Given the description of an element on the screen output the (x, y) to click on. 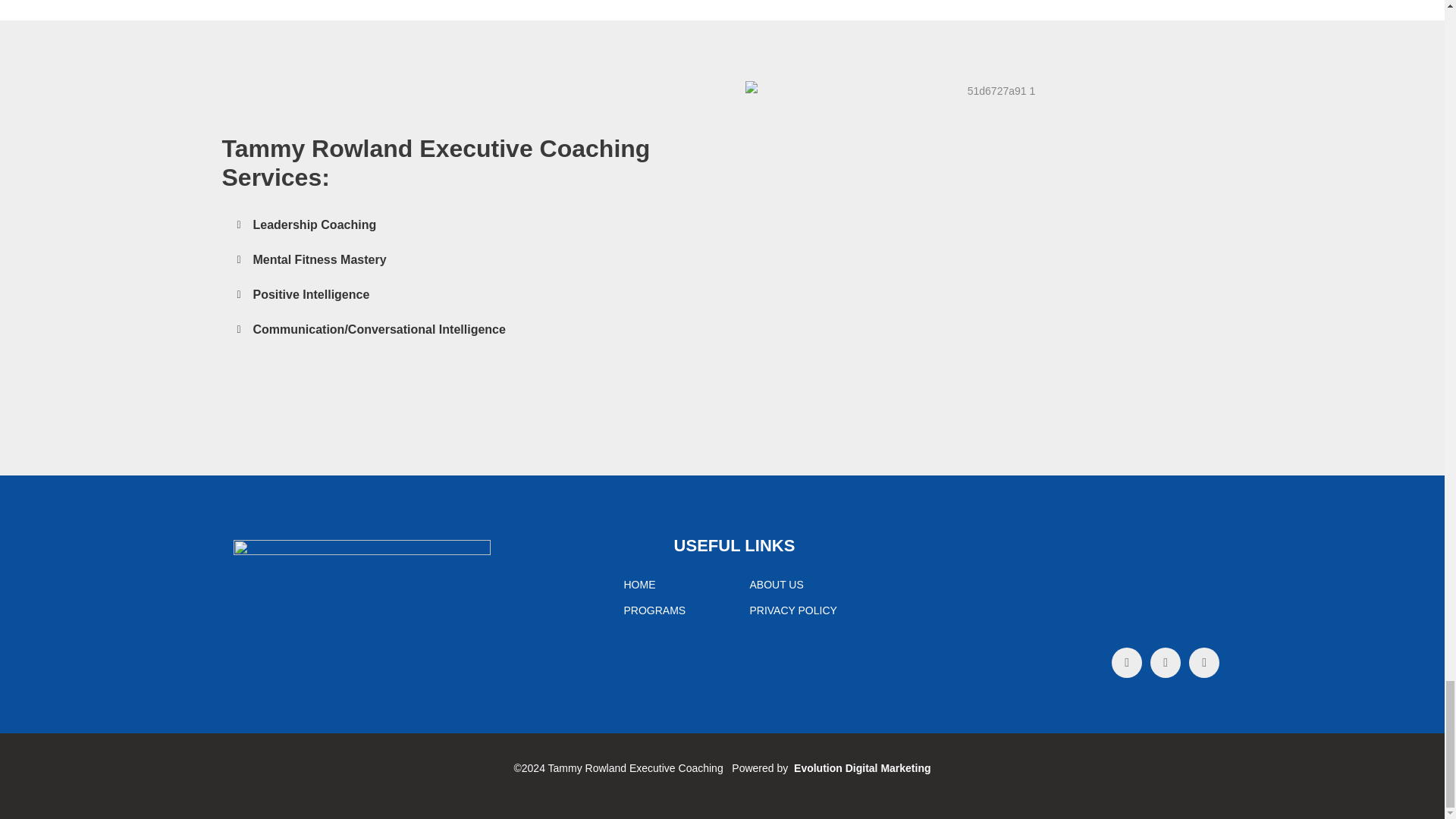
linkedin (1204, 662)
twitter (1165, 662)
facebook (1126, 662)
